Given the description of an element on the screen output the (x, y) to click on. 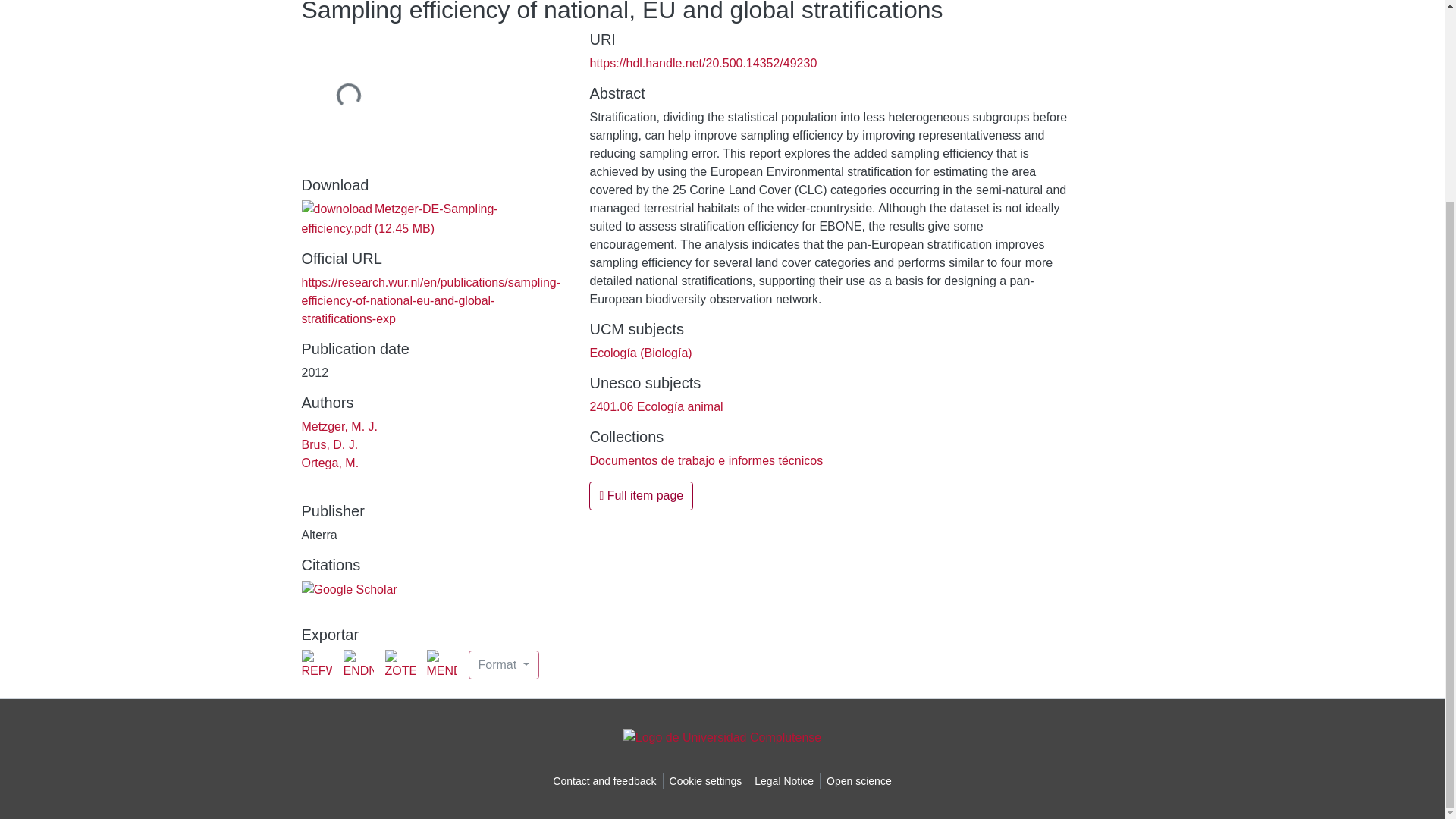
Metzger, M. J. (339, 426)
MENDELEY (441, 665)
Ortega, M. (330, 462)
ZOTERO (399, 665)
Format (503, 664)
REFWORKS (316, 665)
Brus, D. J. (329, 444)
ENDNOTE (357, 665)
Citations in Google Scholar (349, 589)
downoloade (336, 208)
